Given the description of an element on the screen output the (x, y) to click on. 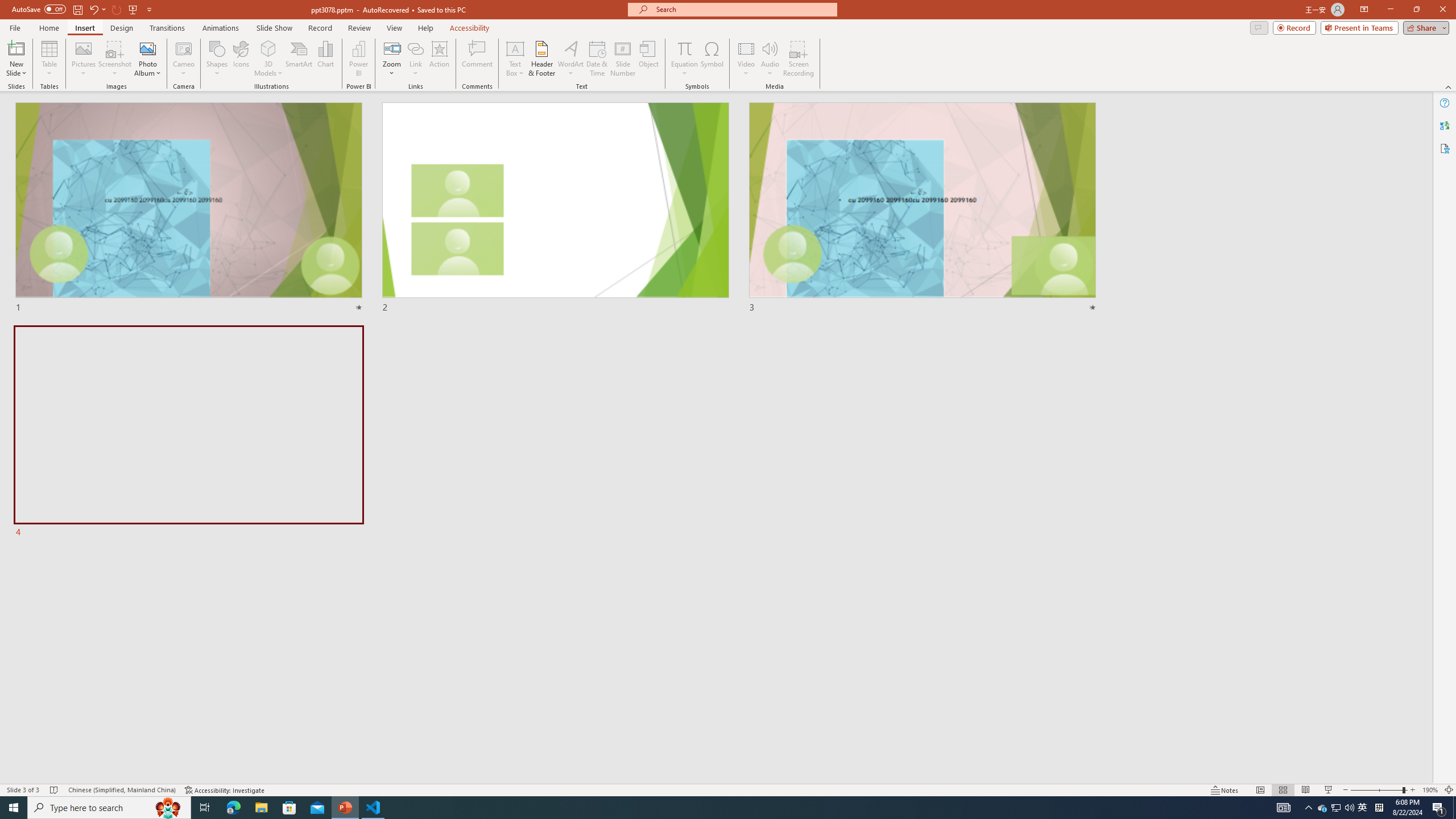
Date & Time... (596, 58)
Customize Quick Access Toolbar (149, 9)
Screenshot (114, 58)
Animations (220, 28)
Slide Number (622, 58)
Zoom In (1412, 790)
New Photo Album... (147, 48)
Chart... (325, 58)
Comment (476, 58)
Audio (769, 58)
Accessibility (1444, 147)
Icons (240, 58)
Video (745, 58)
